Given the description of an element on the screen output the (x, y) to click on. 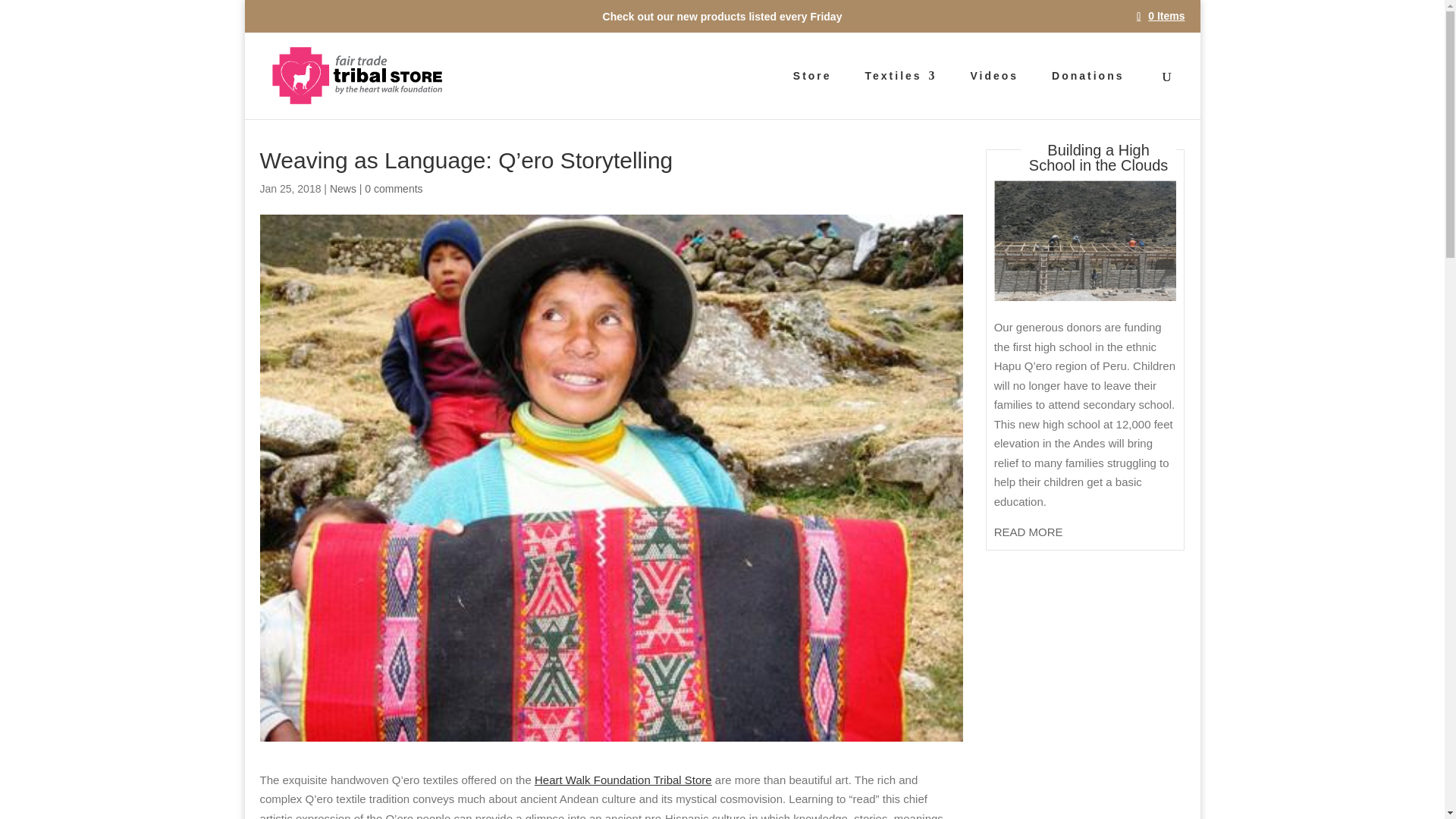
Heart Walk Foundation Tribal Store (622, 779)
Videos (995, 94)
0 Items (1161, 15)
Textiles (900, 94)
News (343, 188)
READ MORE (1028, 531)
Donations (1087, 94)
0 comments (393, 188)
